Given the description of an element on the screen output the (x, y) to click on. 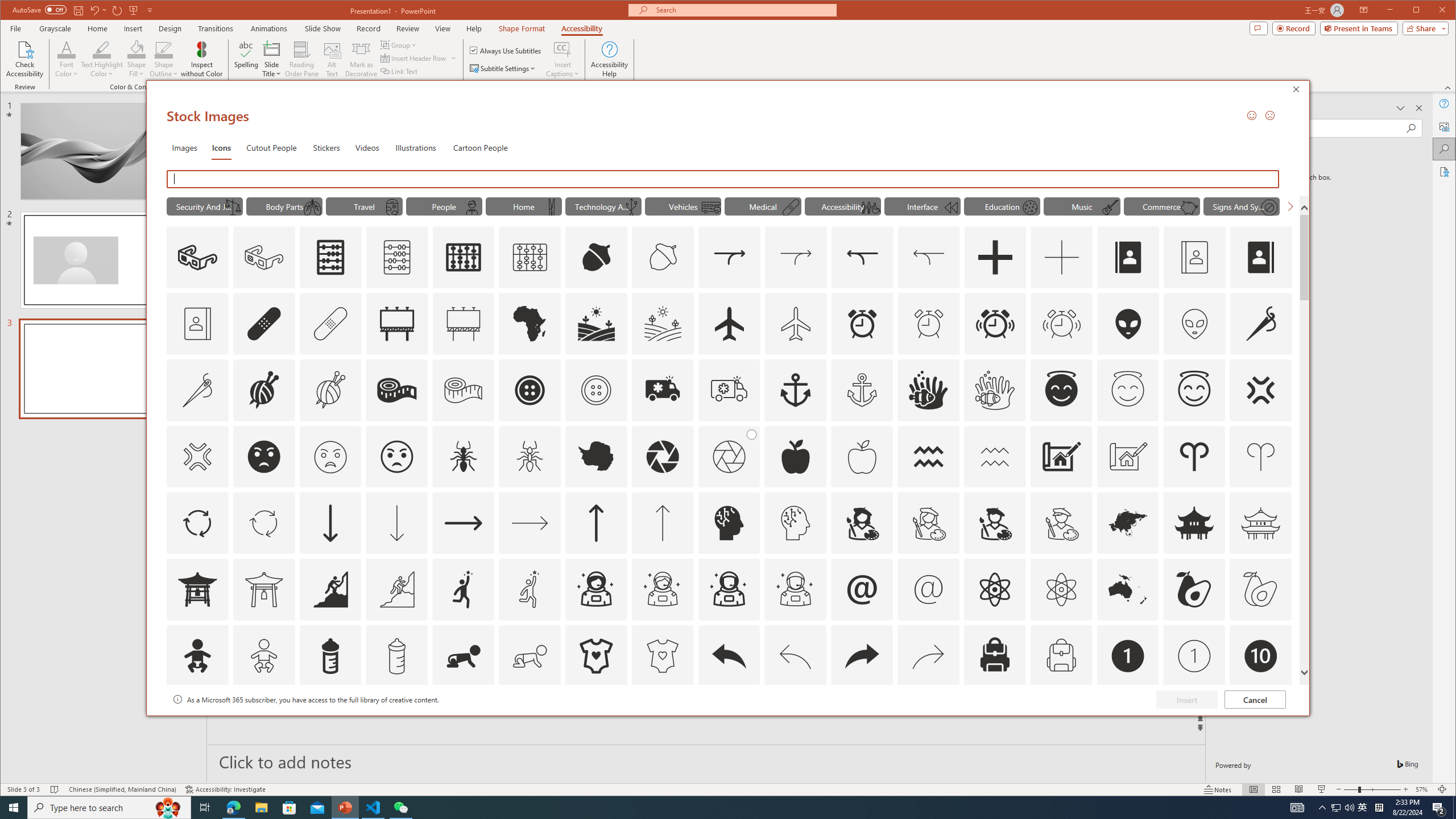
AutomationID: Icons_AngryFace_M (330, 456)
"Home" Icons. (524, 206)
Subtitle Settings (502, 68)
AutomationID: Icons_Add_M (1061, 256)
Action Center, 2 new notifications (1439, 807)
AutomationID: Icons_AsianTemple_M (1260, 522)
AutomationID: Icons_Badge7_M (994, 721)
AutomationID: Icons_AlterationsTailoring1_M (330, 389)
